Given the description of an element on the screen output the (x, y) to click on. 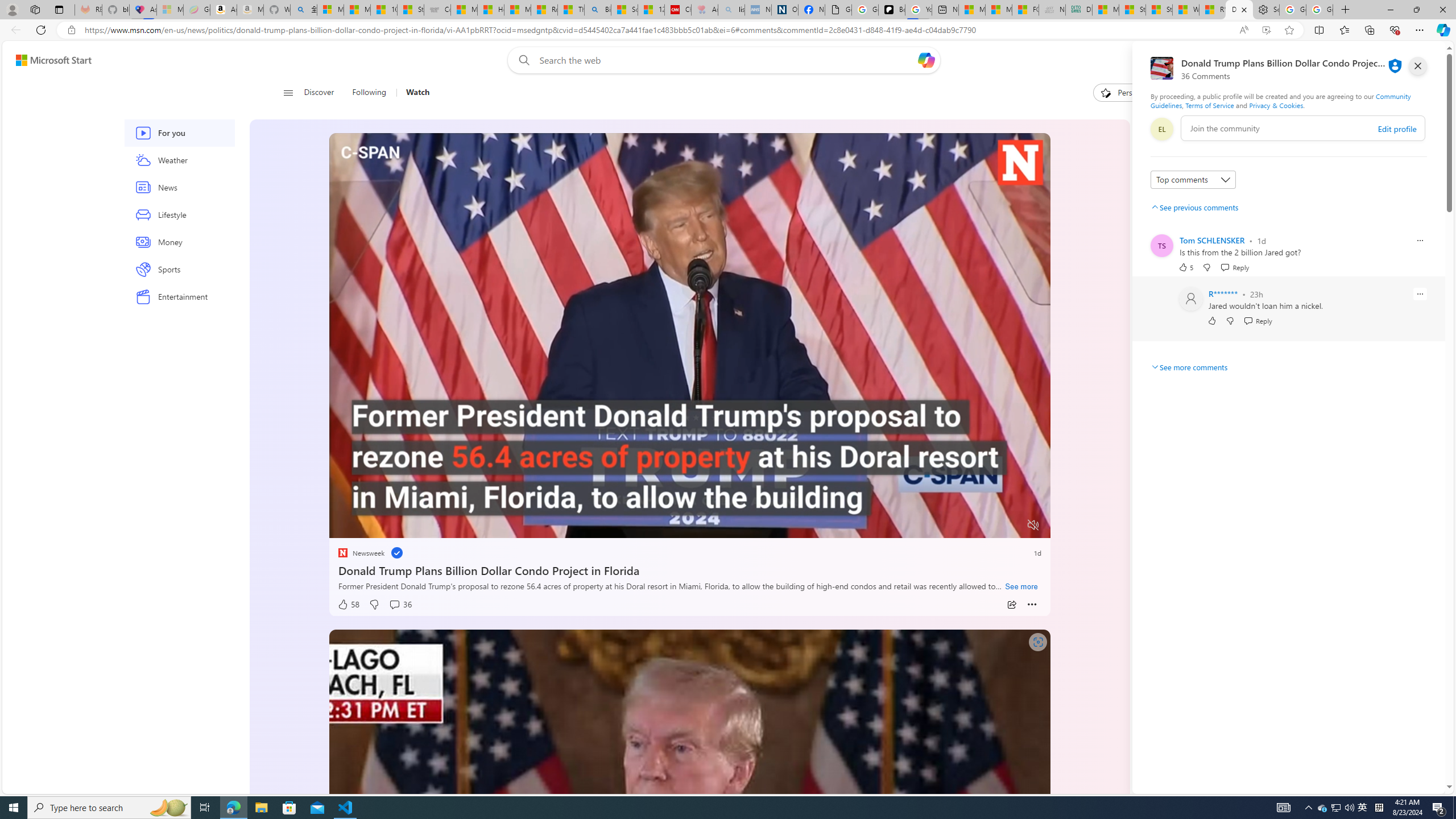
close (1417, 65)
Progress Bar (689, 510)
Donald Trump Plans Billion Dollar Condo Project in Florida (689, 568)
The Wall Street Journal (1165, 366)
Captions (988, 525)
